Given the description of an element on the screen output the (x, y) to click on. 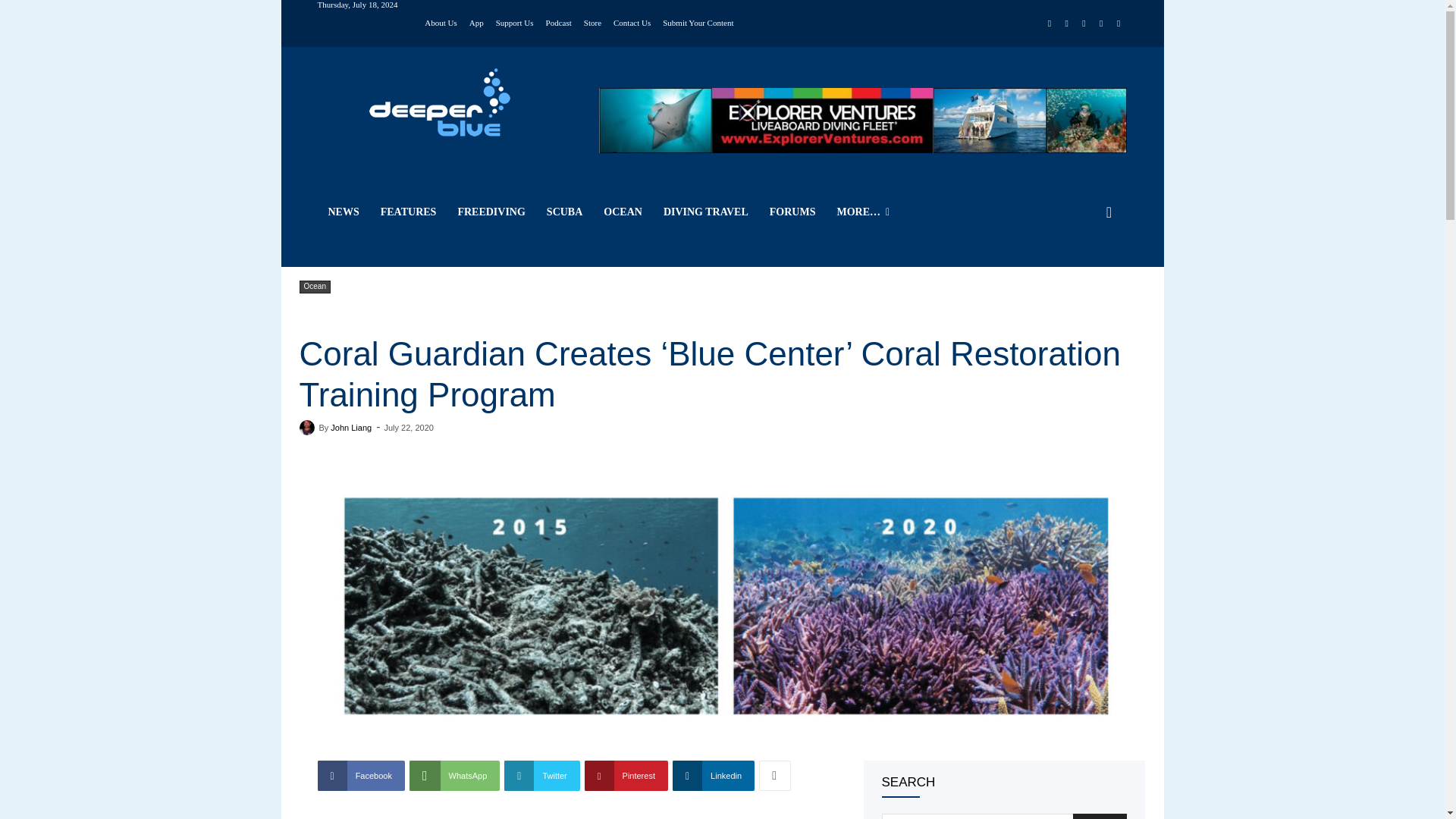
Instagram (1066, 23)
App (475, 22)
Support Us (515, 22)
RSS (1084, 23)
About Us (441, 22)
Facebook (1049, 23)
Podcast (559, 22)
Store (592, 22)
Twitter (1101, 23)
Contact Us (631, 22)
